Given the description of an element on the screen output the (x, y) to click on. 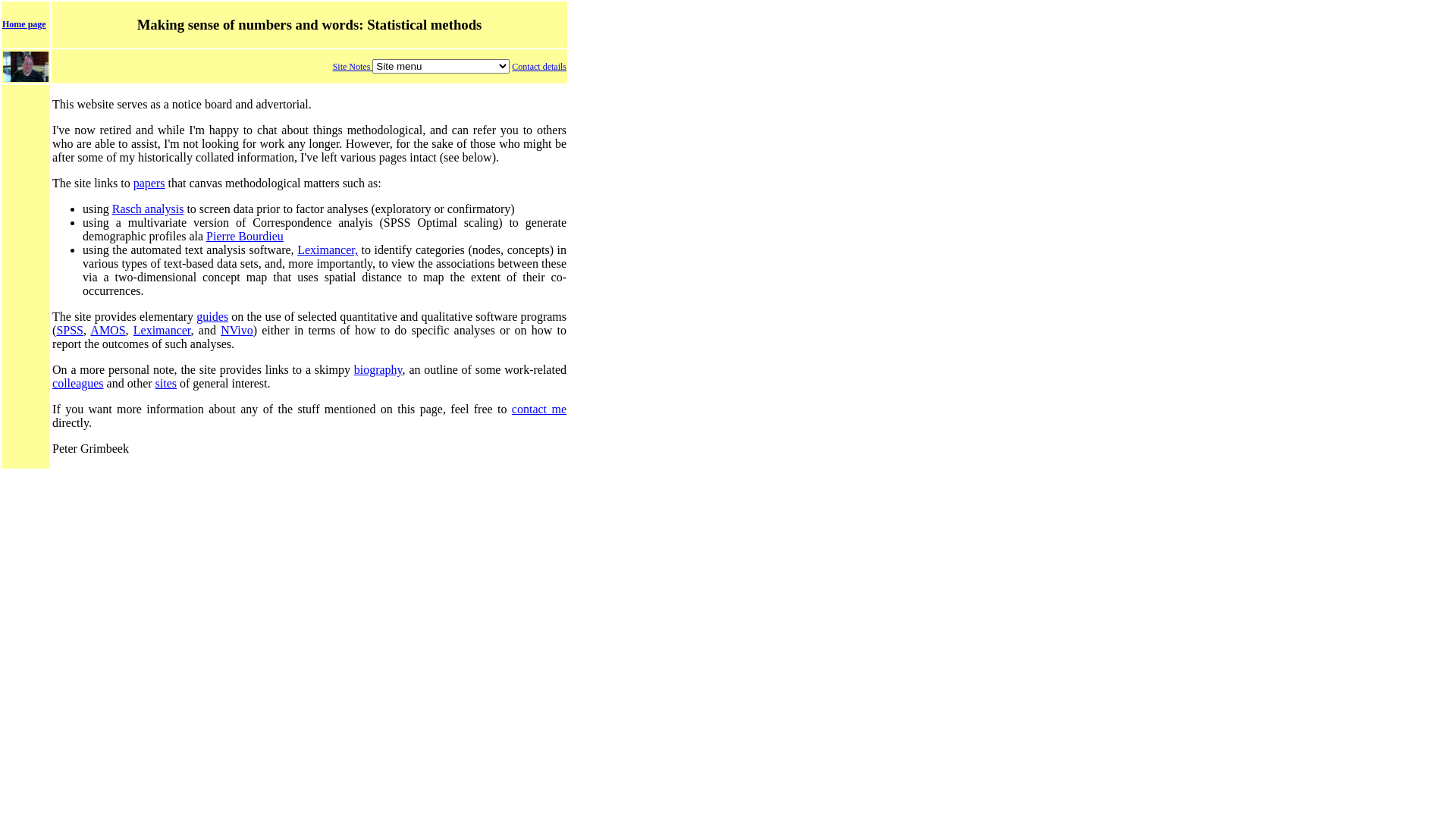
biography Element type: text (378, 369)
contact me Element type: text (538, 408)
SPSS Element type: text (69, 329)
guides Element type: text (212, 316)
Site Notes Element type: text (352, 66)
NVivo Element type: text (236, 329)
Home page Element type: text (24, 23)
Contact details Element type: text (538, 66)
Leximancer Element type: text (162, 329)
Leximancer, Element type: text (327, 249)
AMOS Element type: text (107, 329)
colleagues Element type: text (77, 382)
Rasch analysis Element type: text (148, 208)
Pierre Bourdieu Element type: text (244, 235)
sites Element type: text (165, 382)
papers Element type: text (149, 182)
